Given the description of an element on the screen output the (x, y) to click on. 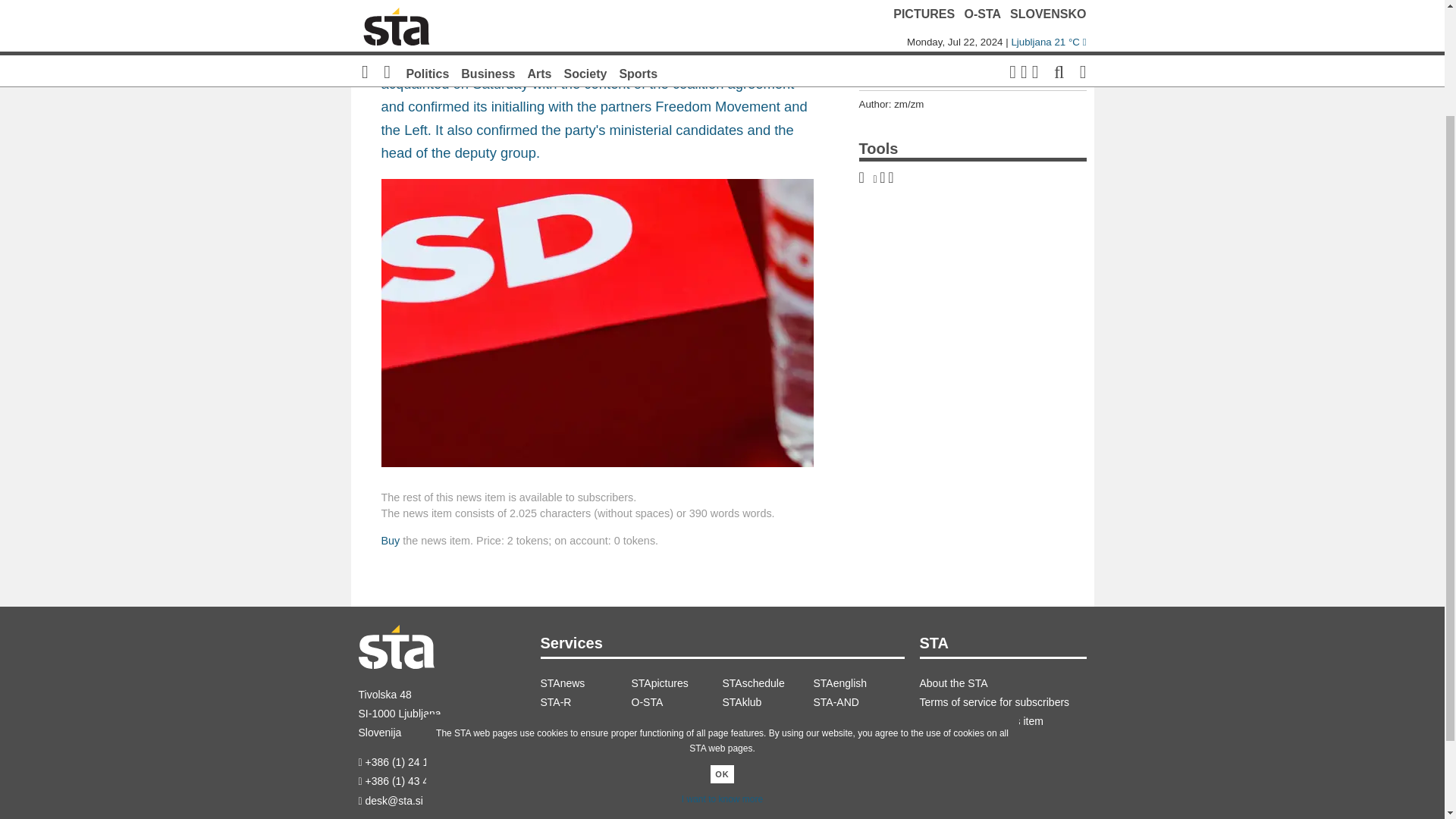
STAnews (585, 683)
STA-R (585, 701)
Public service (767, 721)
STAmisli (676, 721)
STA-M (858, 721)
STA-AND (858, 701)
Buy (389, 540)
O-STA (676, 701)
STAkrog (585, 721)
STAenglish (858, 683)
STApictures (676, 683)
STAklub (767, 701)
STAschedule (767, 683)
